Given the description of an element on the screen output the (x, y) to click on. 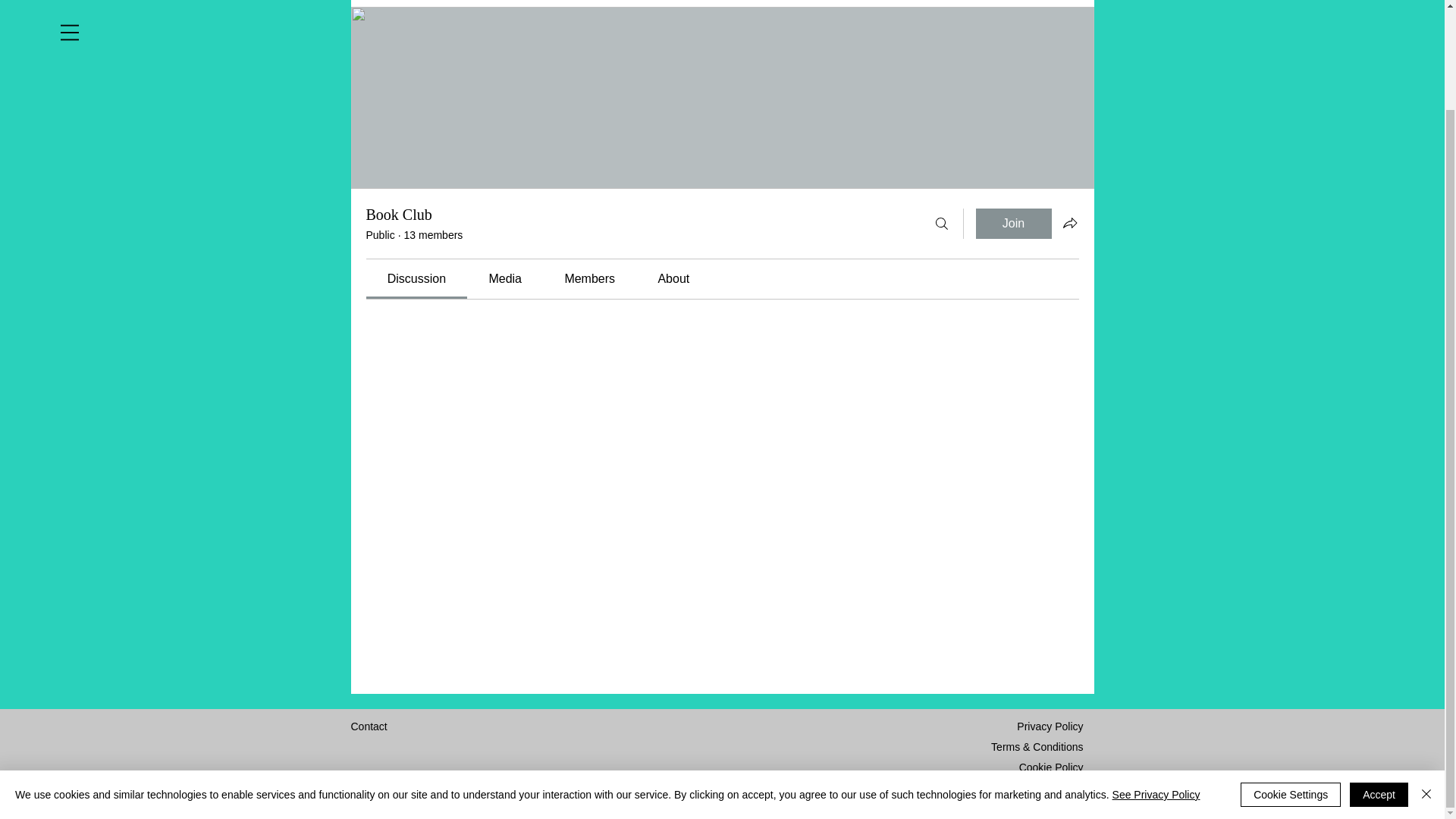
Privacy Policy (1049, 726)
Join (1013, 223)
See Privacy Policy (1155, 678)
Contact (368, 726)
Cookie Settings (1290, 678)
Cookie Policy (1051, 767)
Accept (1378, 678)
